Given the description of an element on the screen output the (x, y) to click on. 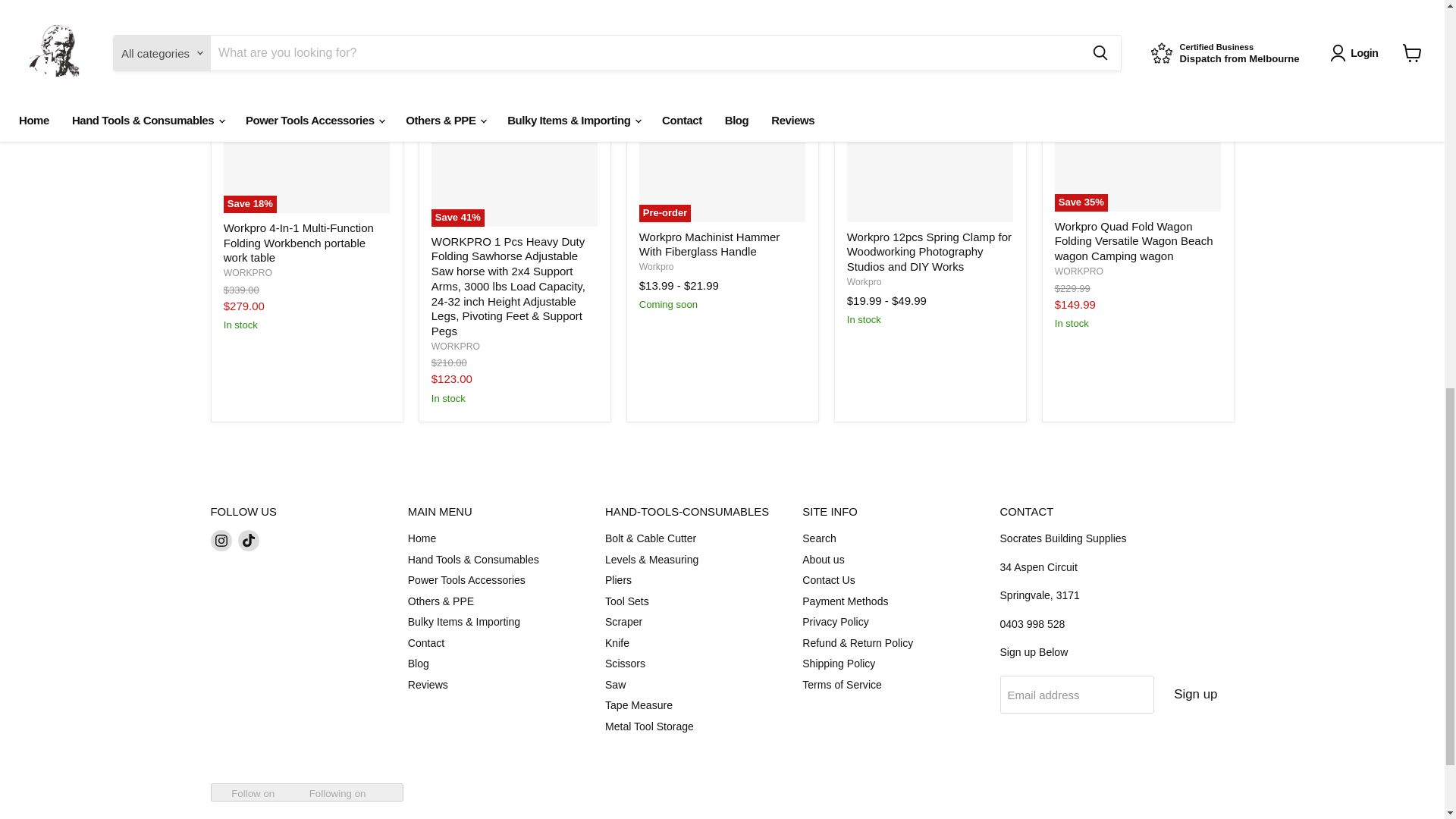
Workpro (864, 281)
WORKPRO (248, 272)
WORKPRO (1078, 271)
TikTok (248, 540)
Instagram (221, 540)
WORKPRO (455, 346)
Workpro (656, 266)
